Given the description of an element on the screen output the (x, y) to click on. 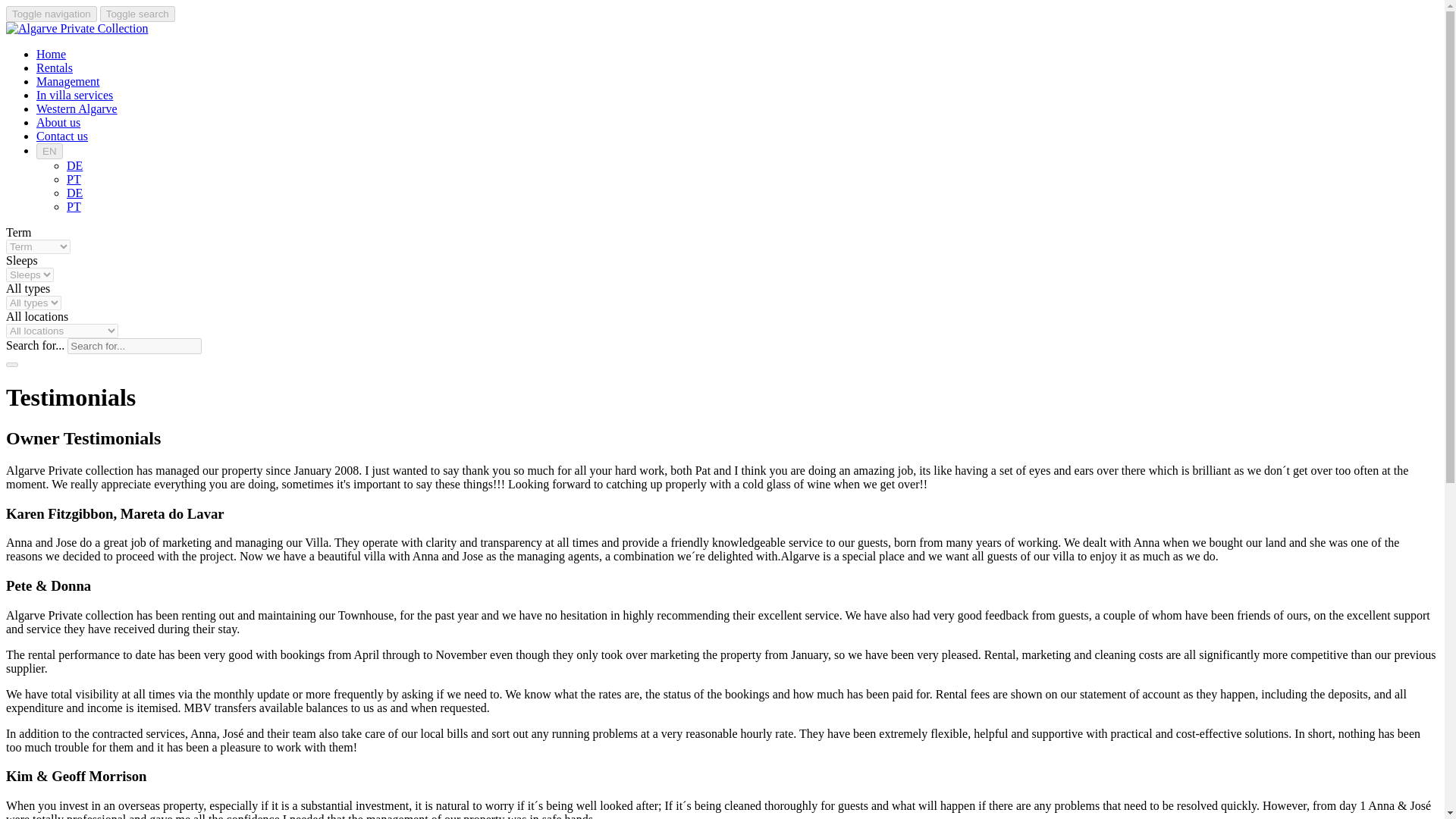
About us (58, 122)
Toggle search (137, 13)
EN (49, 150)
Management (68, 81)
PT (73, 205)
Contact us (61, 135)
Home (50, 53)
DE (74, 192)
In villa services (74, 94)
PT (73, 178)
Western Algarve (76, 108)
DE (74, 164)
Rentals (54, 67)
Toggle navigation (51, 13)
